Given the description of an element on the screen output the (x, y) to click on. 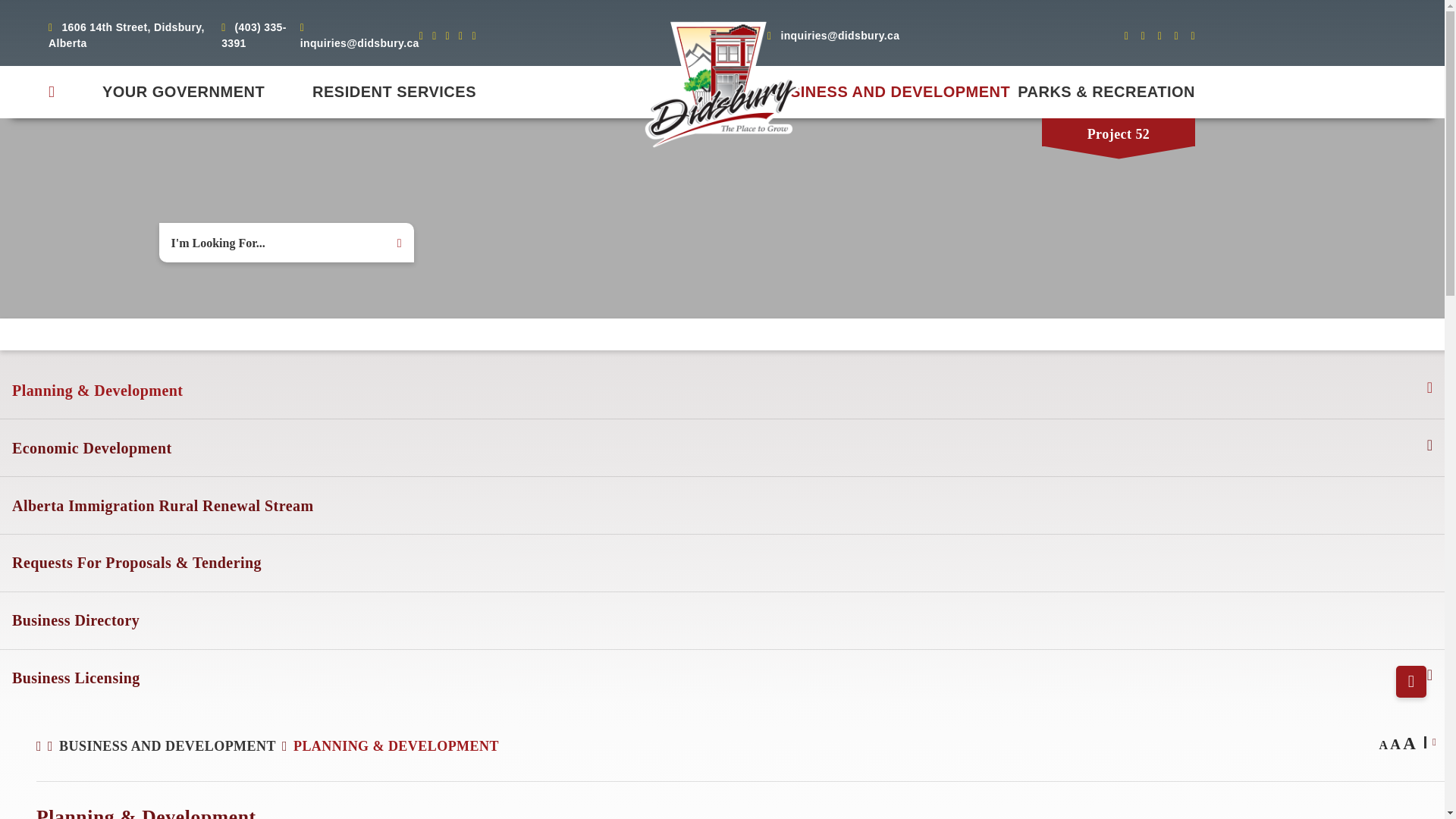
1606 14th Street, Didsbury, Alberta (134, 35)
Join us on our Facebook page (1130, 35)
Project 52 (1118, 131)
YOUR GOVERNMENT (182, 91)
Town of Didsbury (722, 84)
